Given the description of an element on the screen output the (x, y) to click on. 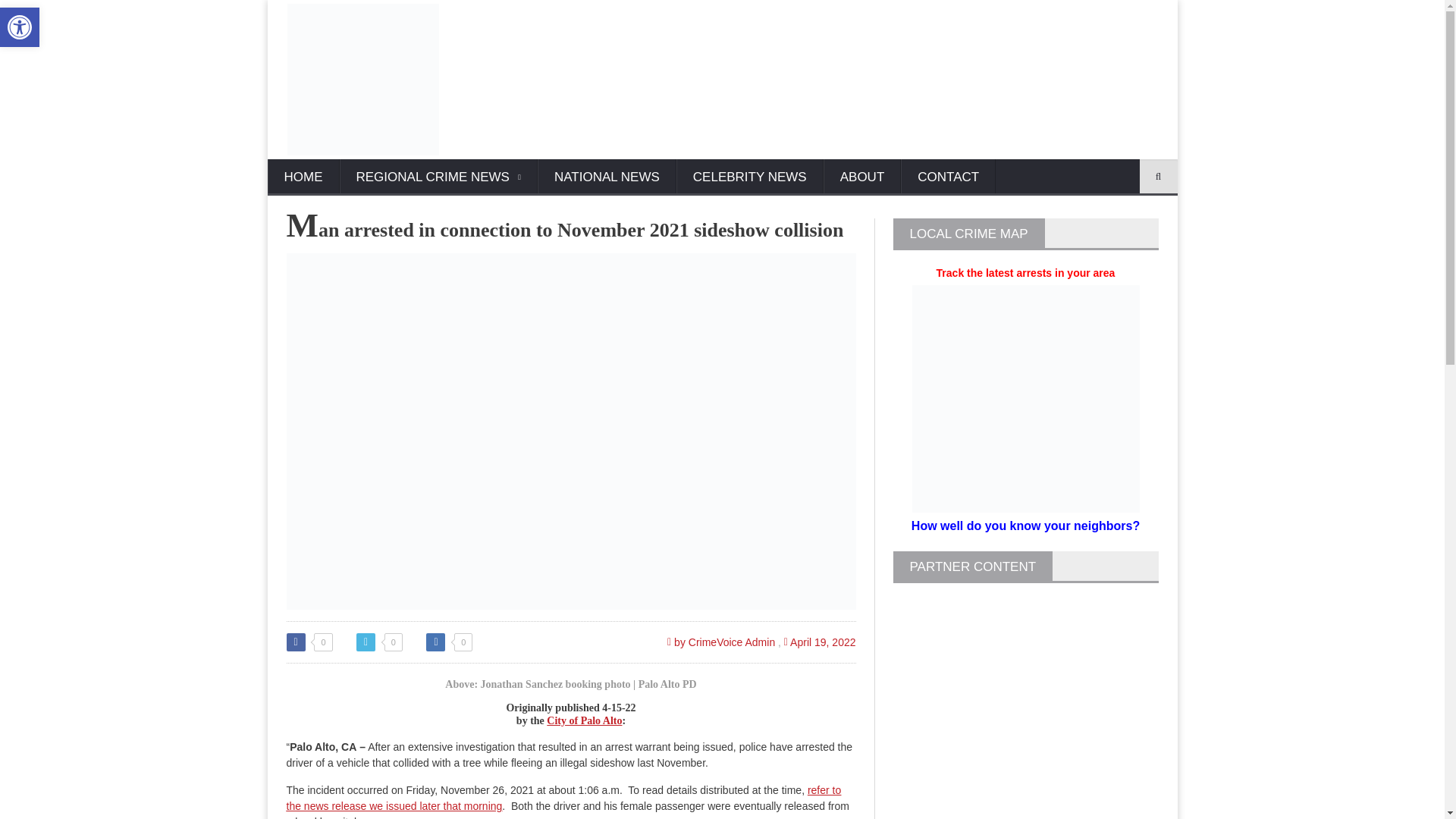
CONTACT (948, 176)
0 (309, 642)
0 (448, 642)
Regional Crime News (438, 176)
refer to the news release we issued later that morning (563, 797)
CELEBRITY NEWS (750, 176)
Accessibility Tools (19, 27)
April 19, 2022 (820, 642)
Celebrity Arrest News (750, 176)
